Given the description of an element on the screen output the (x, y) to click on. 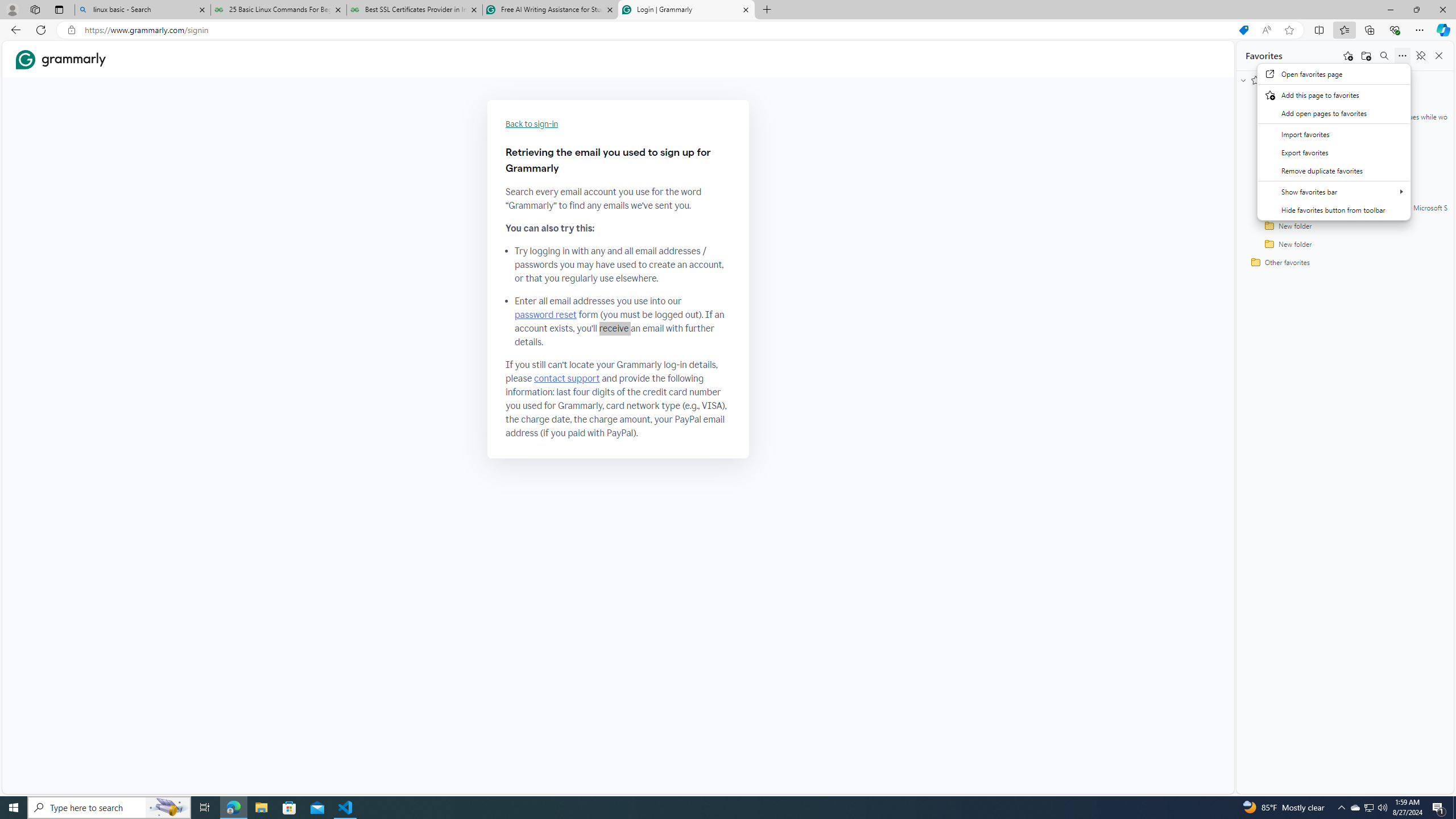
Grammarly Home (61, 59)
Unpin favorites (1420, 55)
Import favorites (1333, 134)
Remove duplicate favorites (1333, 170)
Add folder (1366, 55)
